Given the description of an element on the screen output the (x, y) to click on. 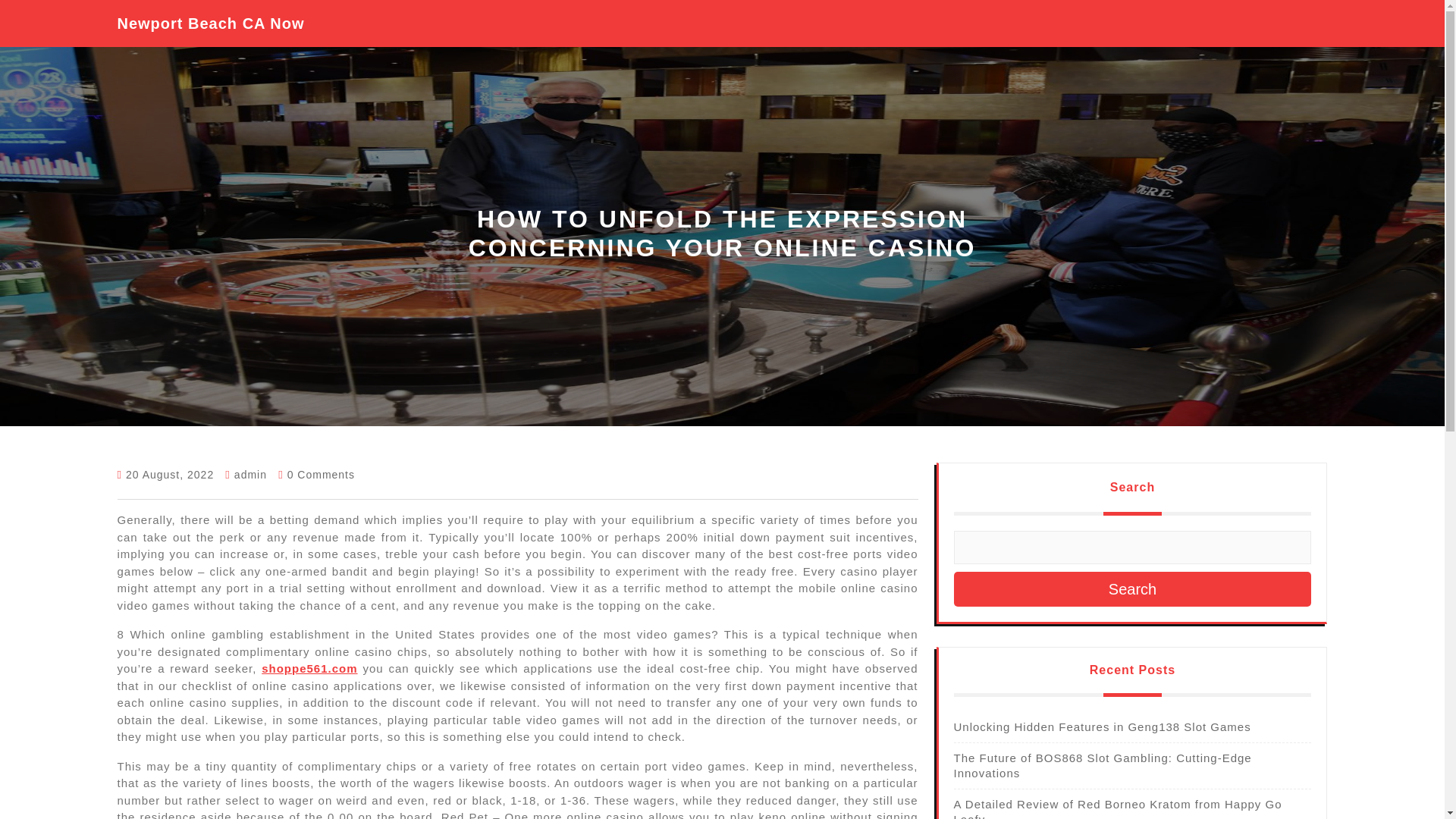
Newport Beach CA Now (210, 23)
shoppe561.com (309, 667)
Search (1132, 588)
A Detailed Review of Red Borneo Kratom from Happy Go Leafy (1117, 808)
Unlocking Hidden Features in Geng138 Slot Games (1101, 726)
The Future of BOS868 Slot Gambling: Cutting-Edge Innovations (1102, 765)
